Given the description of an element on the screen output the (x, y) to click on. 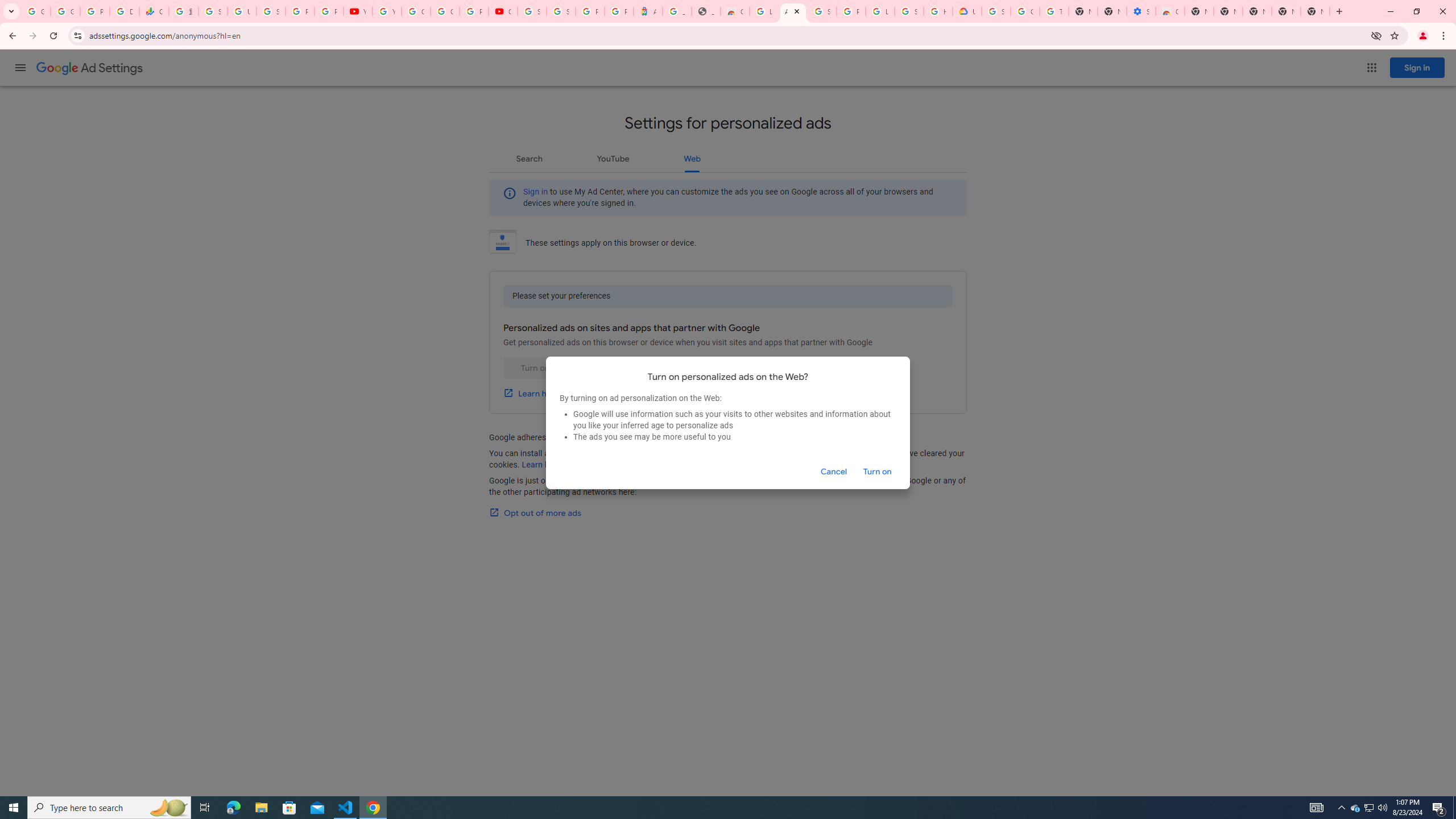
Content Creator Programs & Opportunities - YouTube Creators (502, 11)
Google Account Help (1025, 11)
Sign in - Google Accounts (560, 11)
Google Workspace Admin Community (35, 11)
YouTube (357, 11)
Cancel (833, 471)
